Given the description of an element on the screen output the (x, y) to click on. 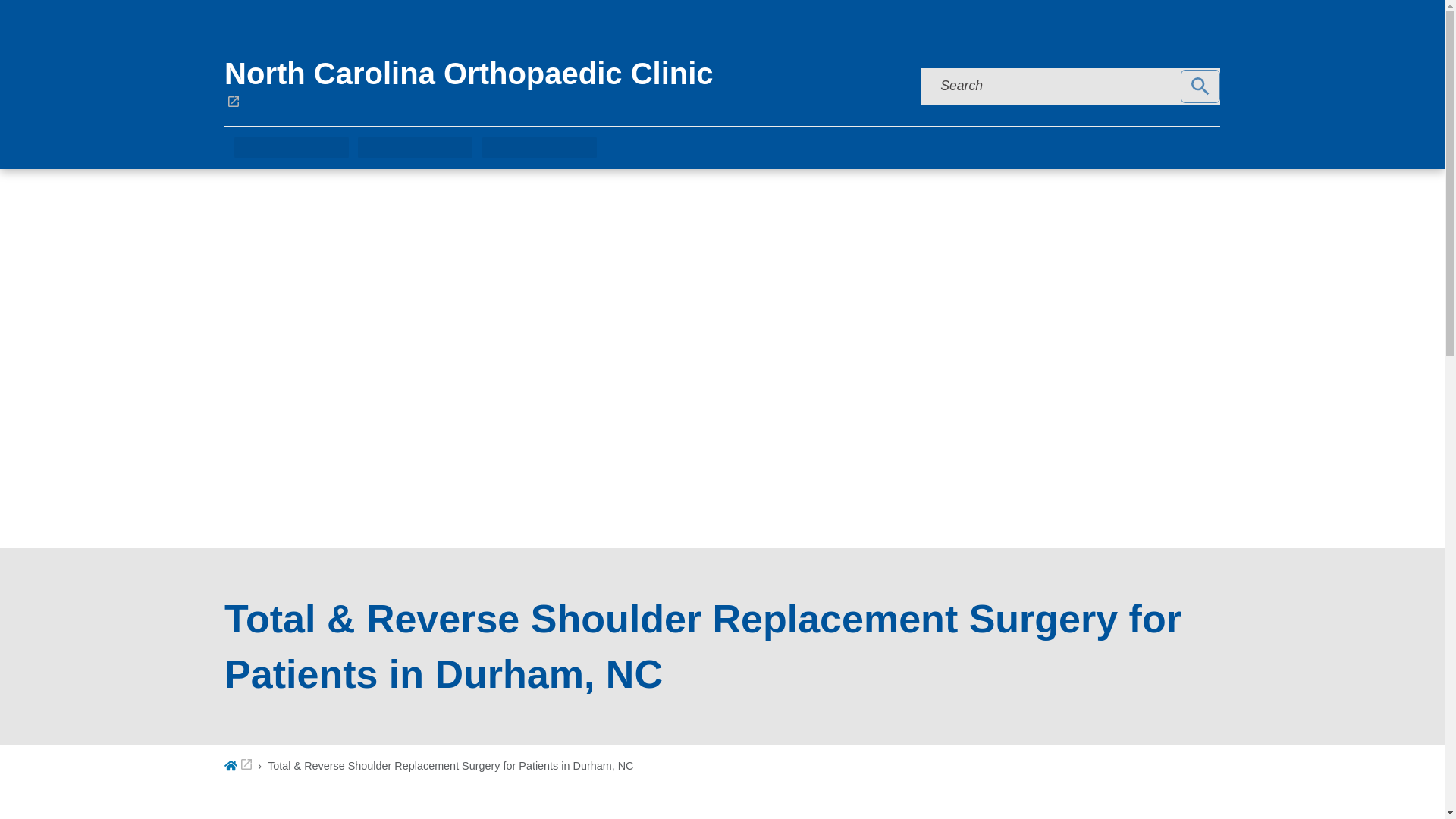
Home (237, 766)
North Carolina Orthopaedic Clinic (547, 83)
